Given the description of an element on the screen output the (x, y) to click on. 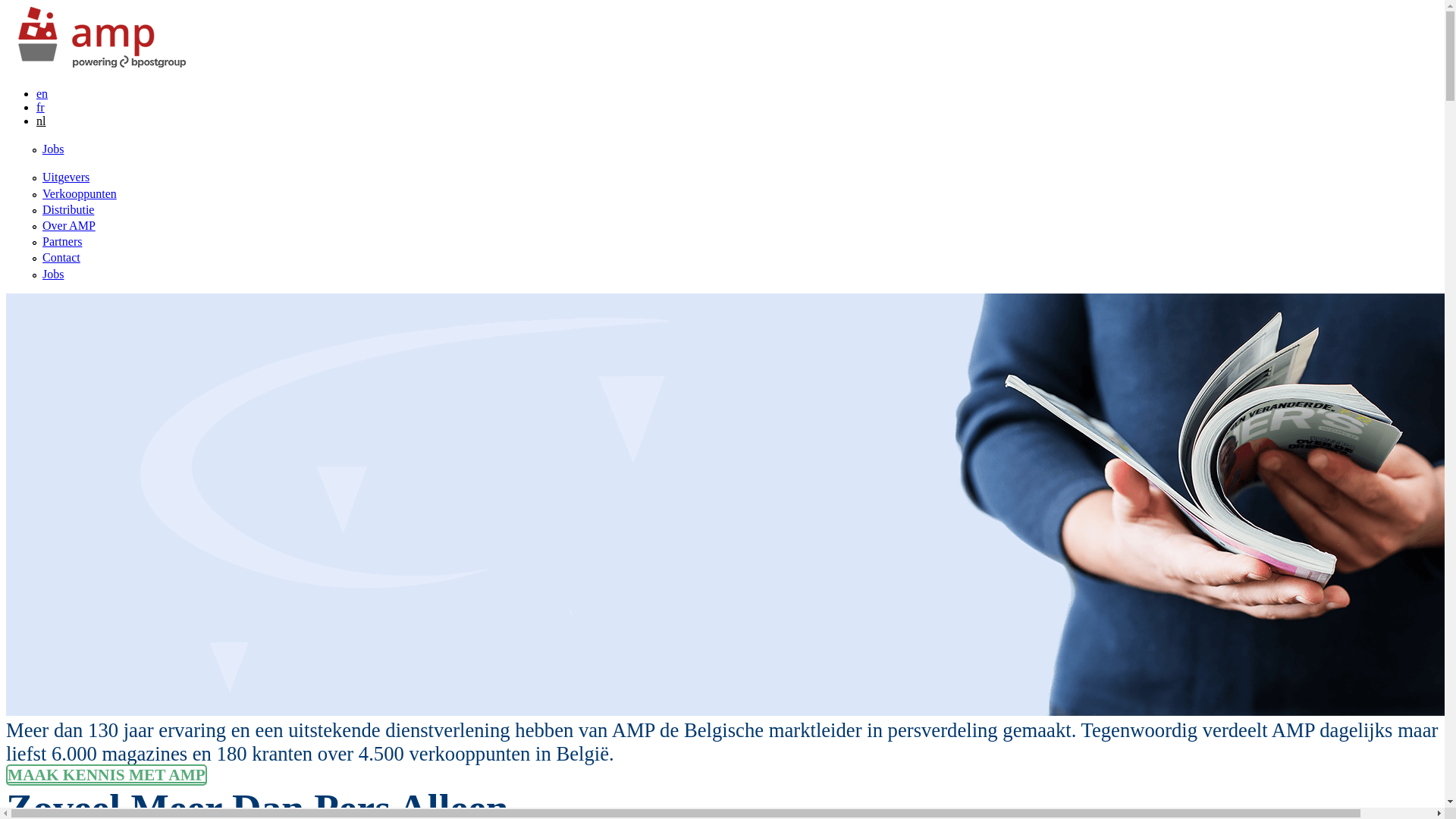
Over AMP Element type: text (68, 225)
Distributie Element type: text (68, 209)
Verkooppunten Element type: text (79, 193)
Partners Element type: text (61, 241)
nl Element type: text (40, 120)
fr Element type: text (40, 106)
Uitgevers Element type: text (65, 176)
Contact Element type: text (61, 257)
en Element type: text (41, 93)
Jobs Element type: text (52, 148)
MAAK KENNIS MET AMP Element type: text (106, 774)
Skip to main content Element type: text (56, 6)
Jobs Element type: text (52, 272)
